Given the description of an element on the screen output the (x, y) to click on. 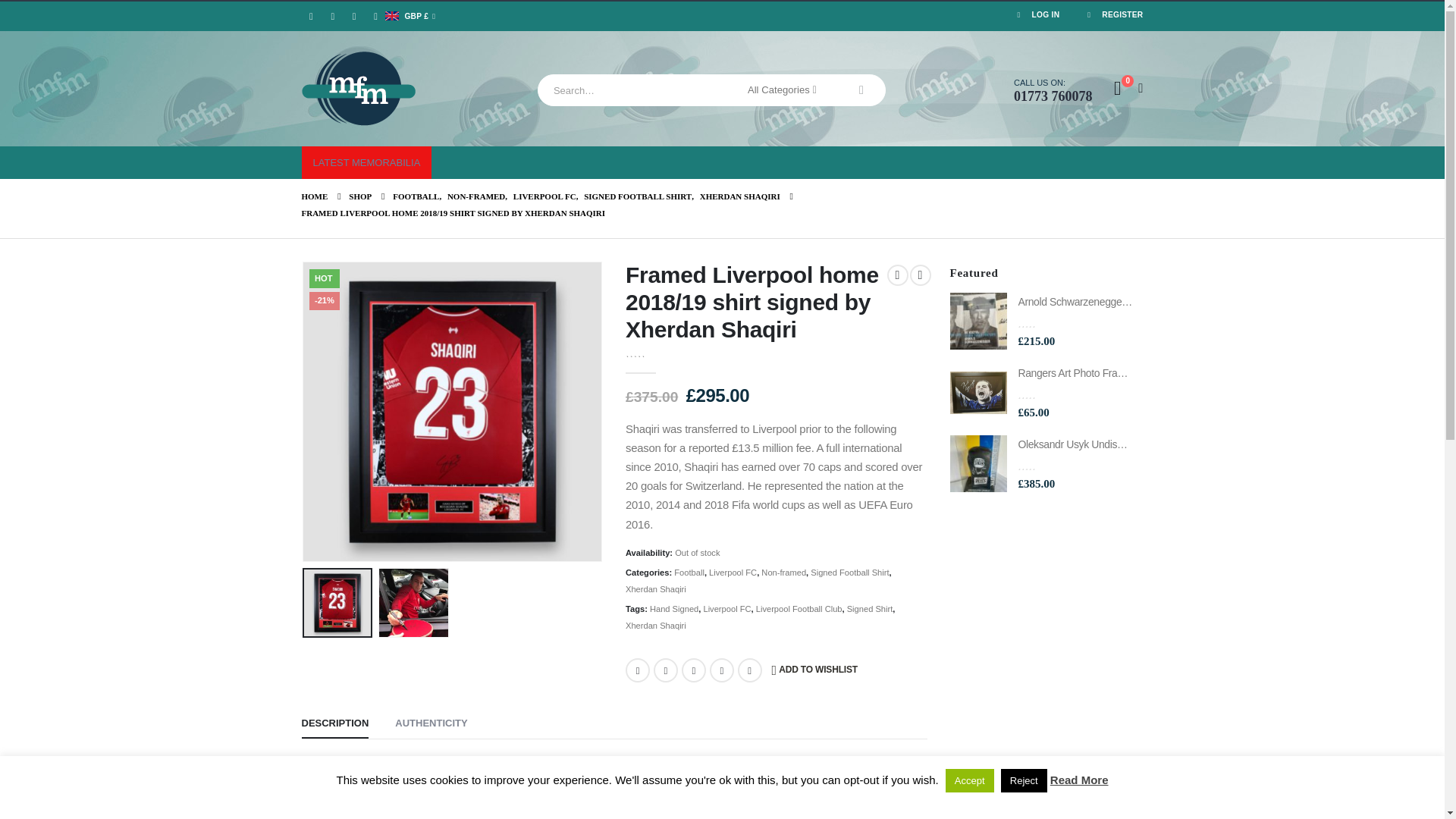
Go to Home Page (315, 196)
LinkedIn (375, 16)
SIGNED FOOTBALL SHIRT (637, 196)
FOOTBALL (416, 196)
Football (689, 572)
Instagram (353, 16)
LOG IN (1036, 16)
NON-FRAMED (475, 196)
Hand Signed (673, 608)
Liverpool Football Club (799, 608)
Signed Shirt (870, 608)
Signed Football Shirt (849, 572)
LATEST MEMORABILIA (366, 162)
XHERDAN SHAQIRI (740, 196)
Search (861, 90)
